Given the description of an element on the screen output the (x, y) to click on. 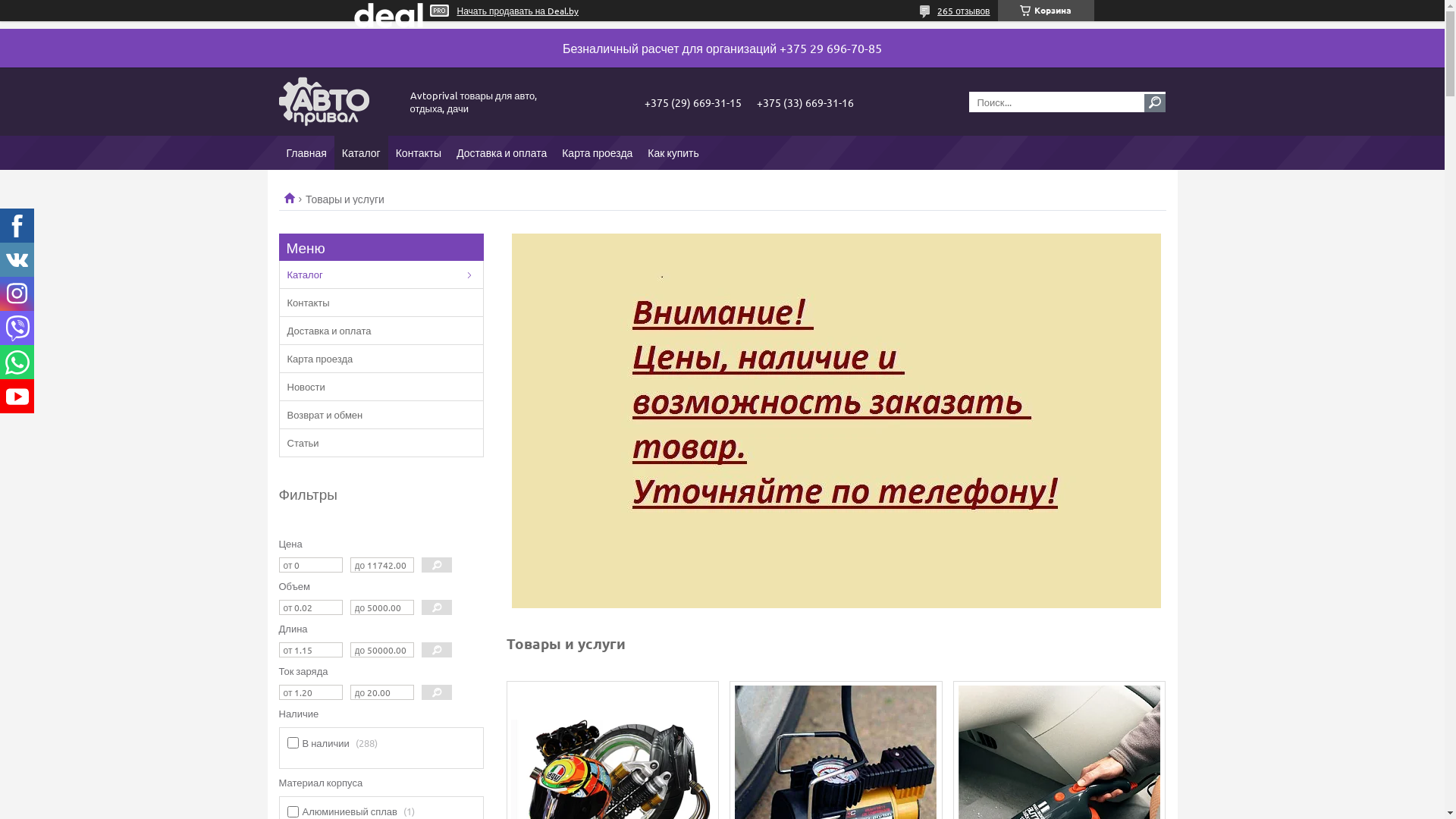
Avtoprival.by Element type: hover (335, 101)
Avtoprival.by Element type: hover (293, 197)
